Given the description of an element on the screen output the (x, y) to click on. 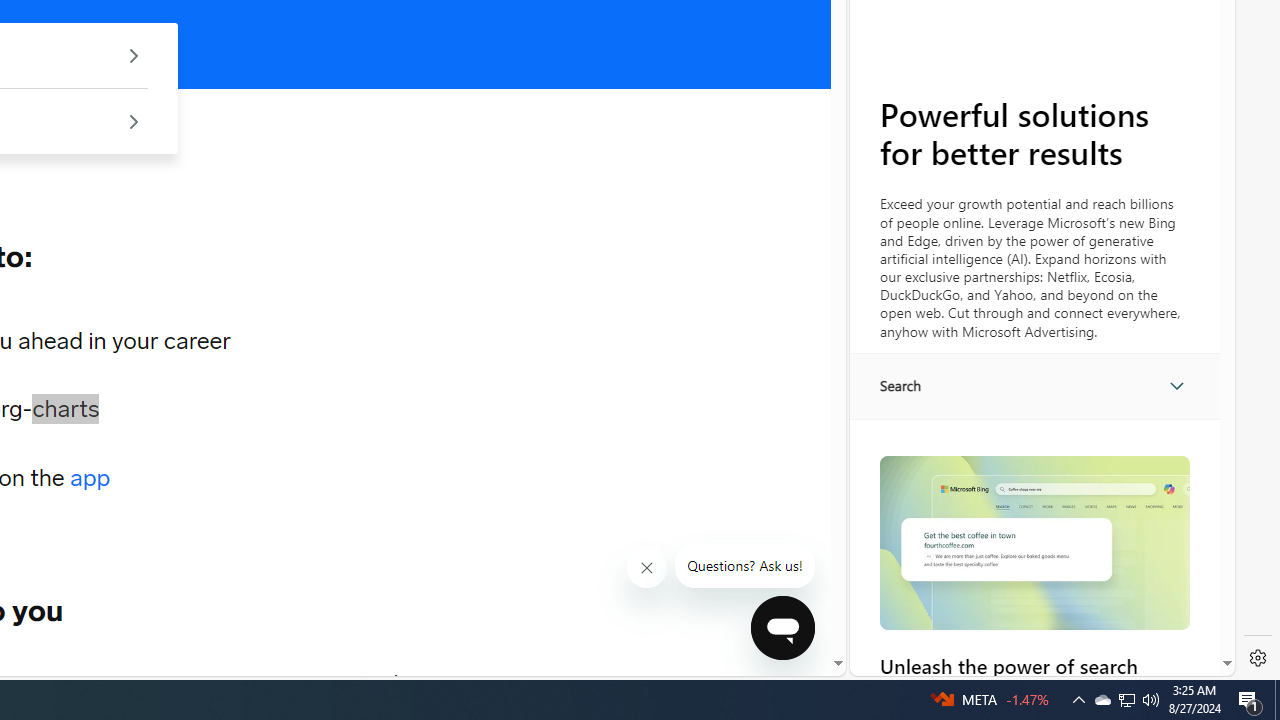
STRATEGY (283, 681)
See group offers (133, 120)
MEDIA (397, 681)
Questions? Ask us! (745, 566)
Class: sc-1uf0igr-1 fjHZYk (646, 568)
